Given the description of an element on the screen output the (x, y) to click on. 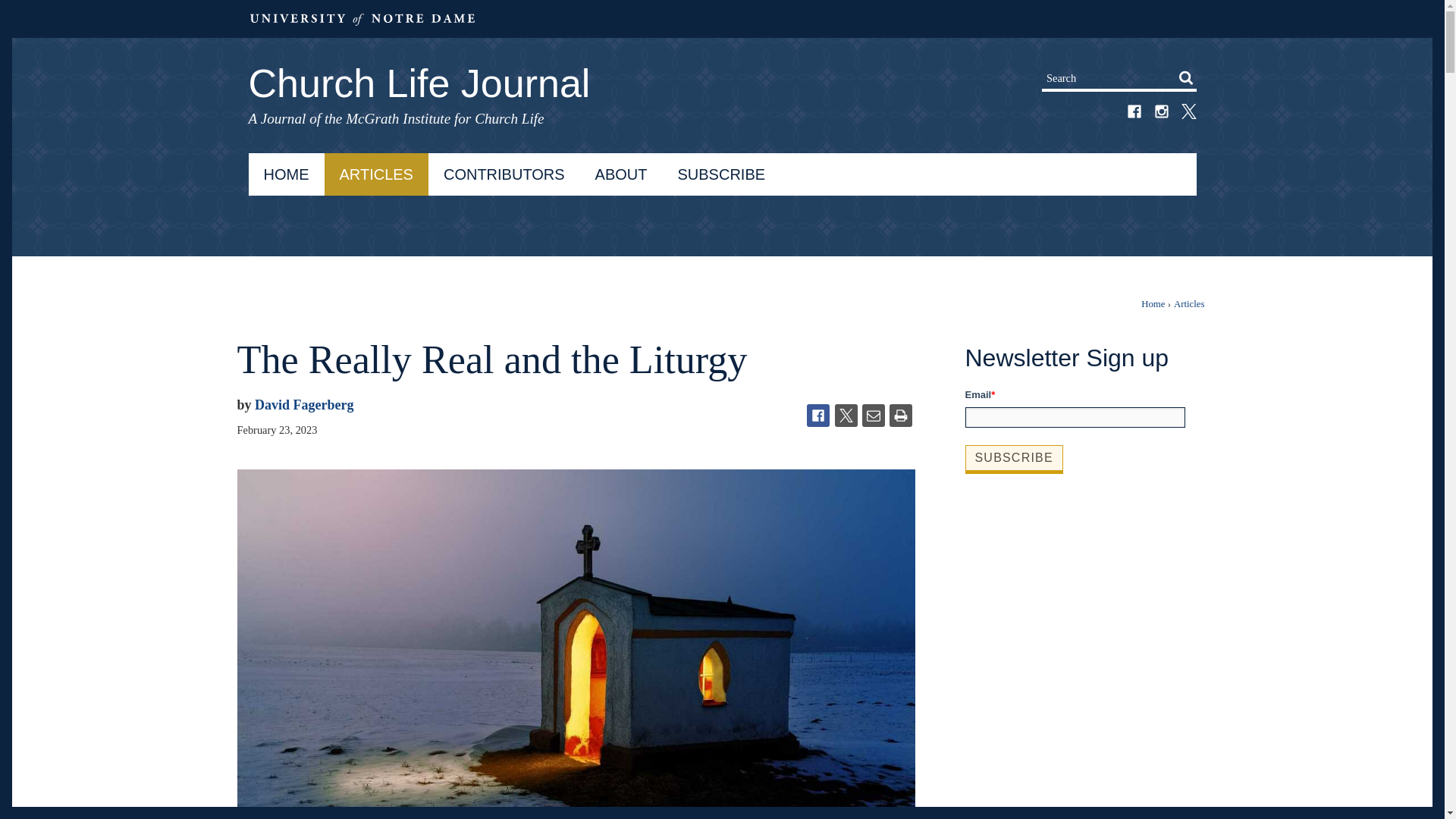
Print (900, 415)
ARTICLES (376, 174)
David Fagerberg (303, 404)
McGrath Institute for Church Life (445, 118)
Instagram (1161, 114)
SUBSCRIBE (721, 174)
HOME (286, 174)
Subscribe (1012, 458)
Facebook (817, 415)
ABOUT (620, 174)
Church Life Journal (722, 70)
Home (1152, 303)
Articles (1189, 303)
Email (873, 415)
Facebook (1133, 114)
